Given the description of an element on the screen output the (x, y) to click on. 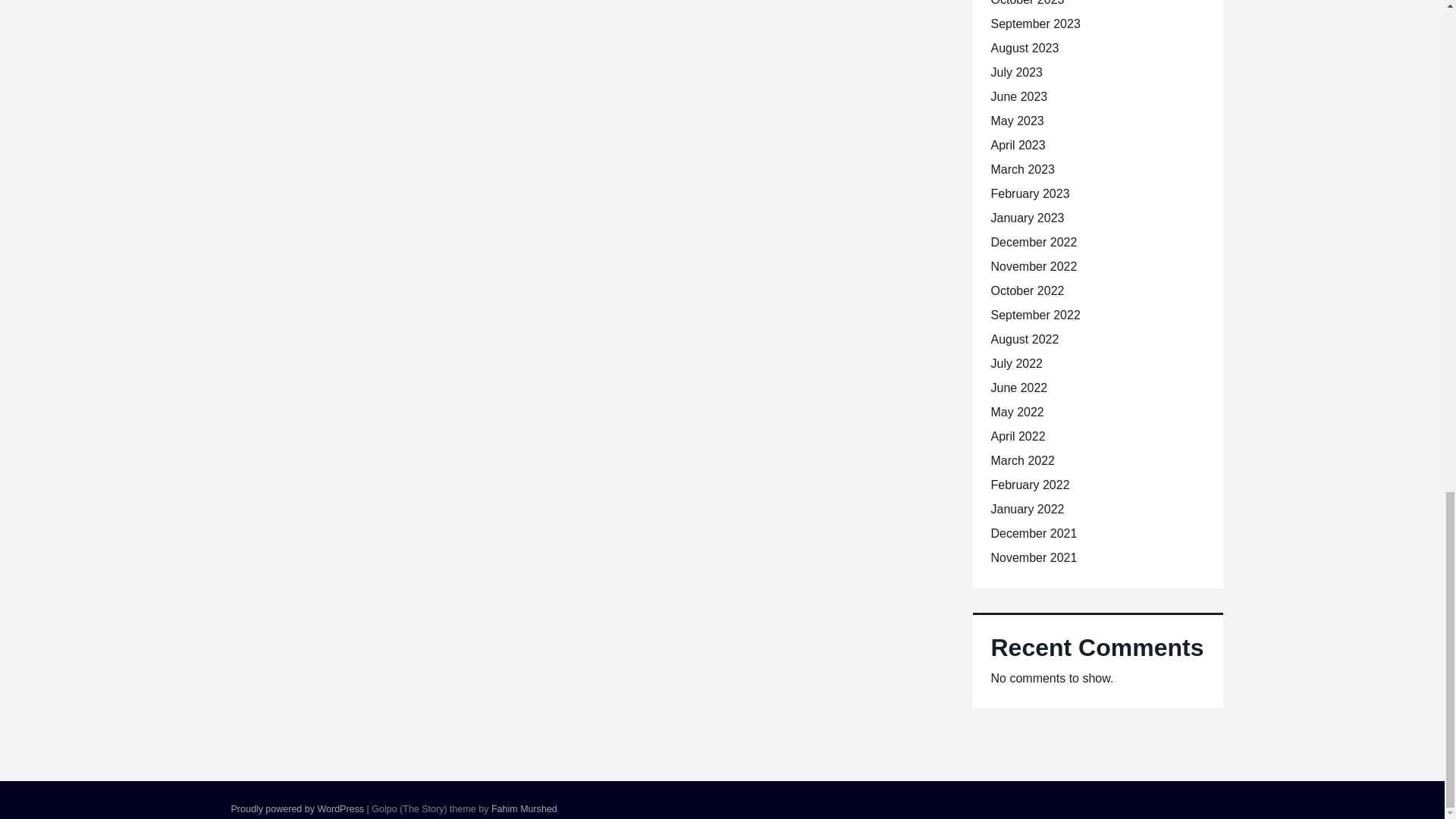
April 2023 (1017, 144)
January 2023 (1027, 217)
February 2023 (1029, 193)
July 2023 (1016, 72)
May 2023 (1016, 120)
September 2023 (1035, 23)
October 2023 (1027, 2)
October 2022 (1027, 290)
August 2023 (1024, 47)
December 2022 (1033, 241)
March 2023 (1022, 169)
June 2023 (1018, 96)
November 2022 (1033, 266)
